Given the description of an element on the screen output the (x, y) to click on. 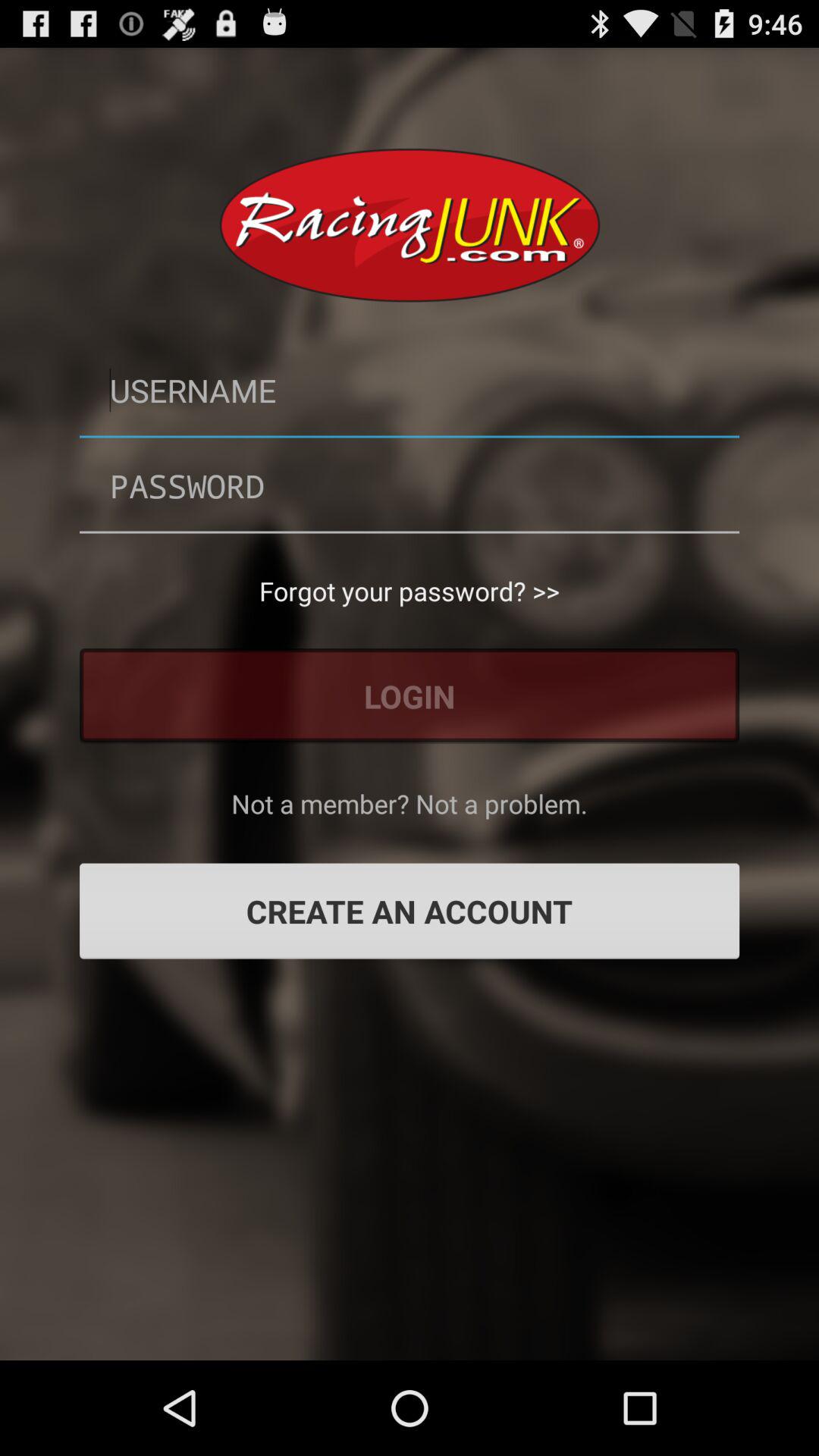
scroll to forgot your password? >> icon (409, 590)
